Given the description of an element on the screen output the (x, y) to click on. 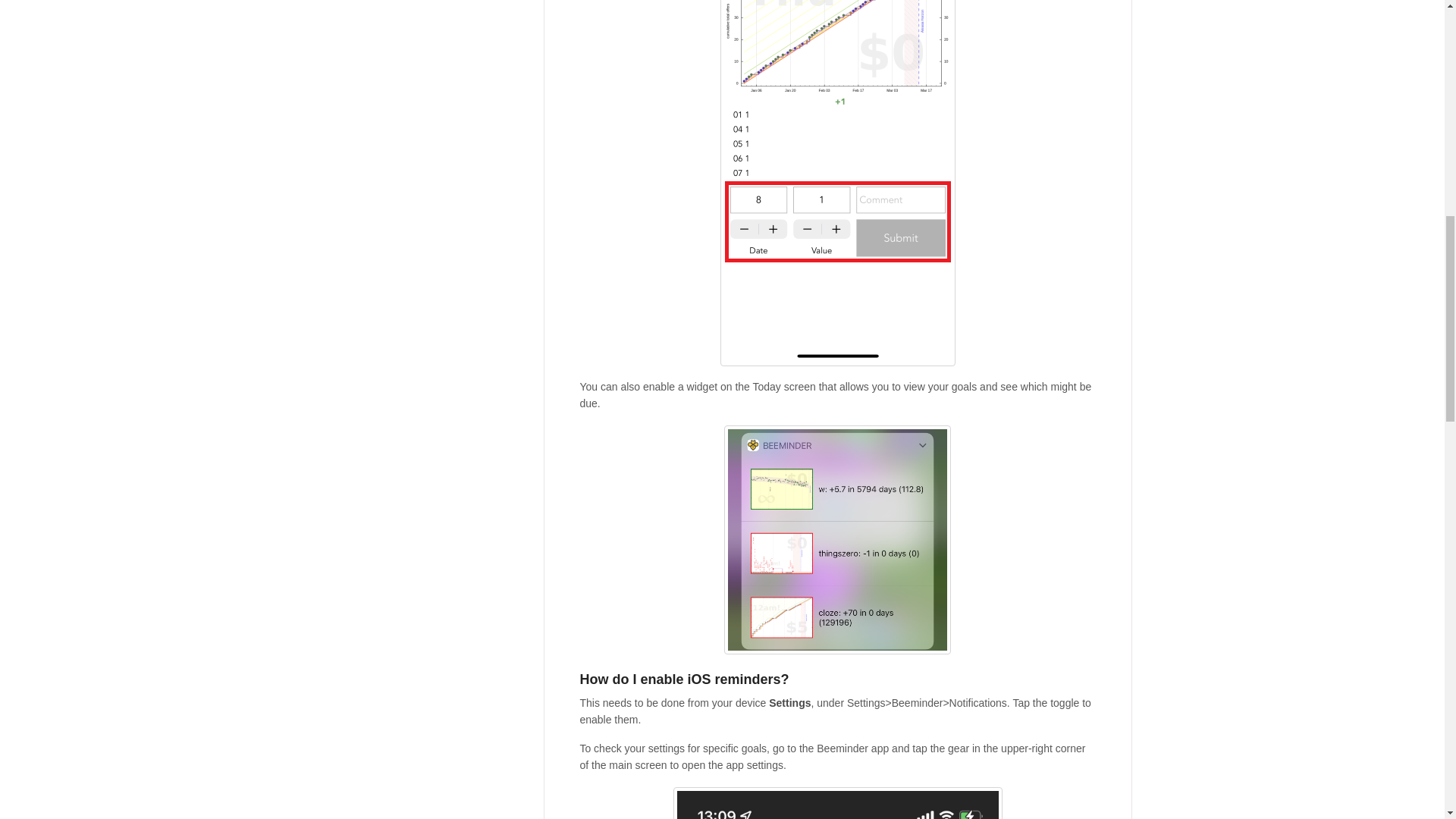
Link directly to this section (837, 679)
